Given the description of an element on the screen output the (x, y) to click on. 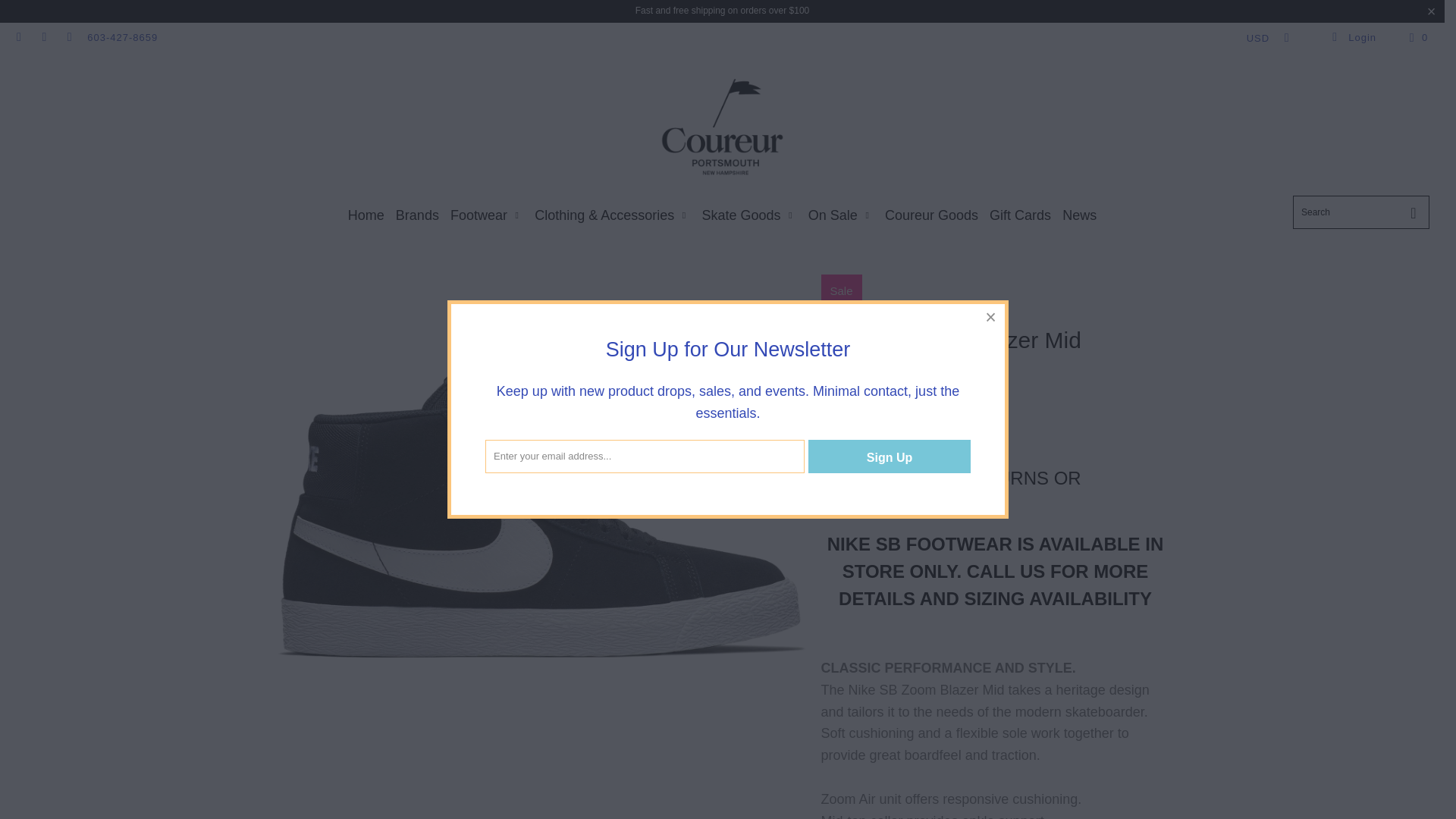
Coureur Goods on Instagram (42, 37)
Sign Up (889, 456)
Coureur Goods on Twitter (17, 37)
My Account  (1353, 37)
Coureur Goods (722, 127)
Email Coureur Goods (68, 37)
